Given the description of an element on the screen output the (x, y) to click on. 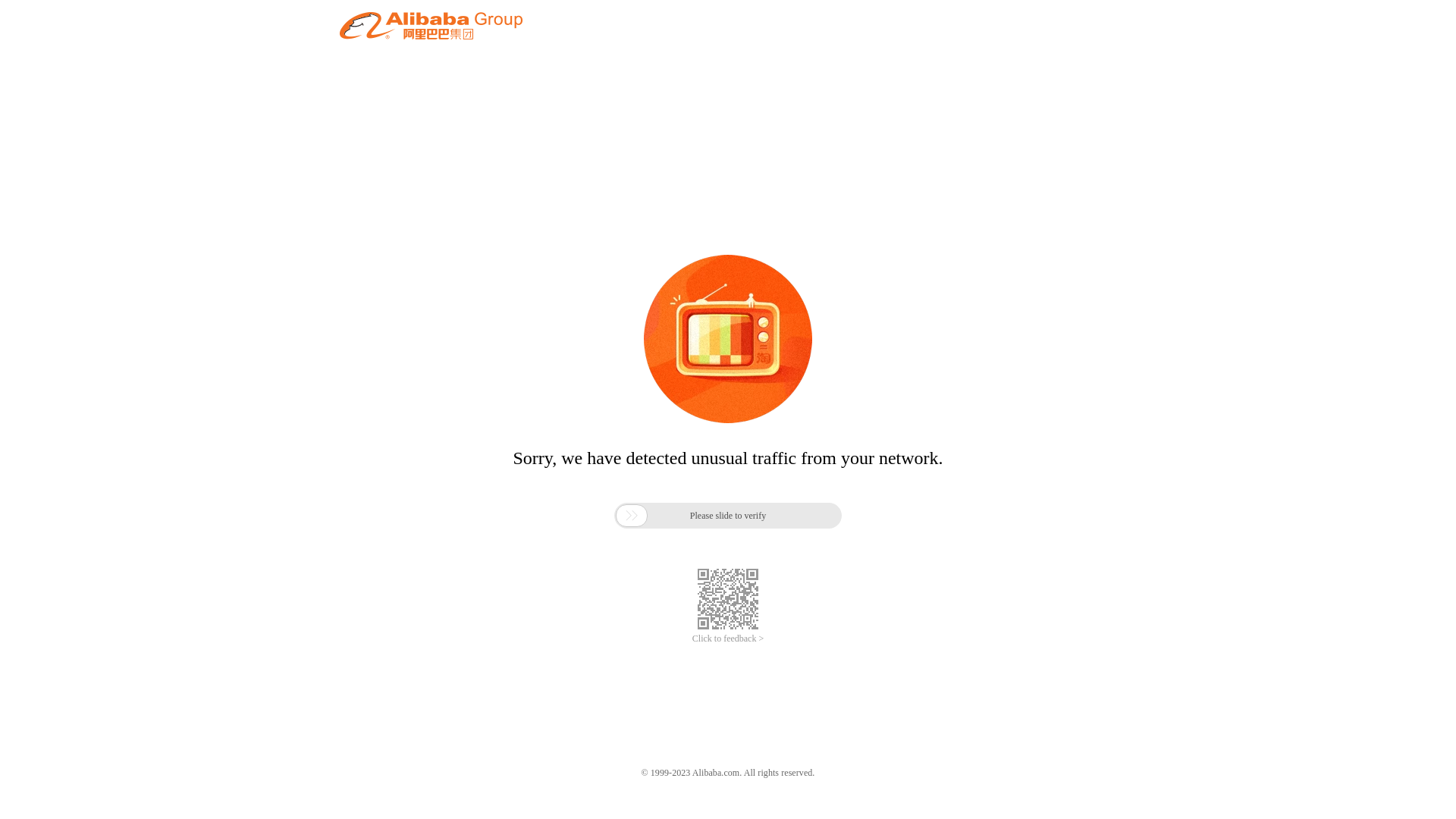
Click to feedback > Element type: text (727, 638)
